Given the description of an element on the screen output the (x, y) to click on. 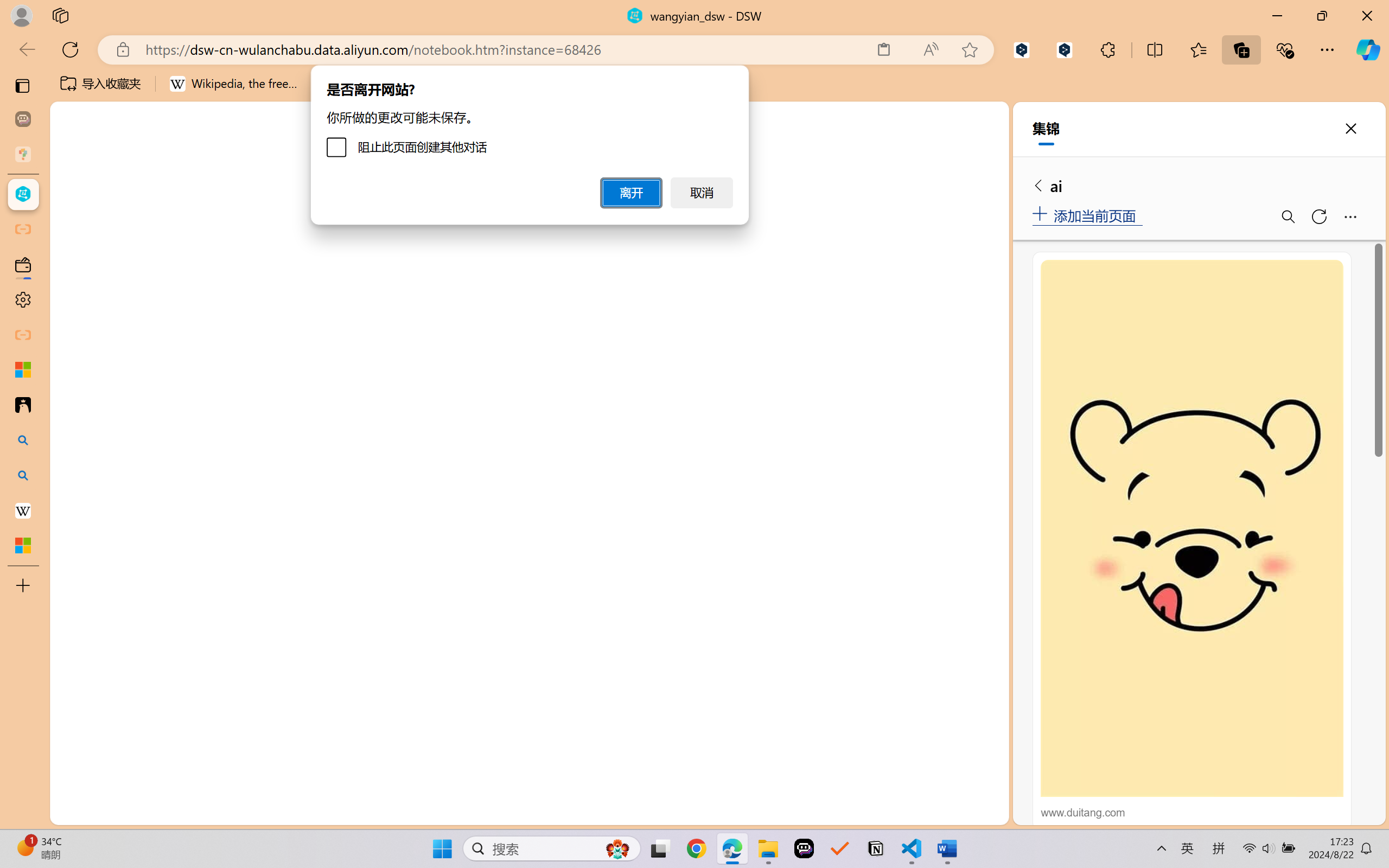
Terminal actions (812, 565)
Notifications (986, 812)
Explorer (Ctrl+Shift+E) (73, 234)
Earth - Wikipedia (22, 510)
Output (Ctrl+Shift+U) (377, 565)
Accounts - Sign in requested (73, 732)
Search (Ctrl+Shift+F) (73, 281)
